Given the description of an element on the screen output the (x, y) to click on. 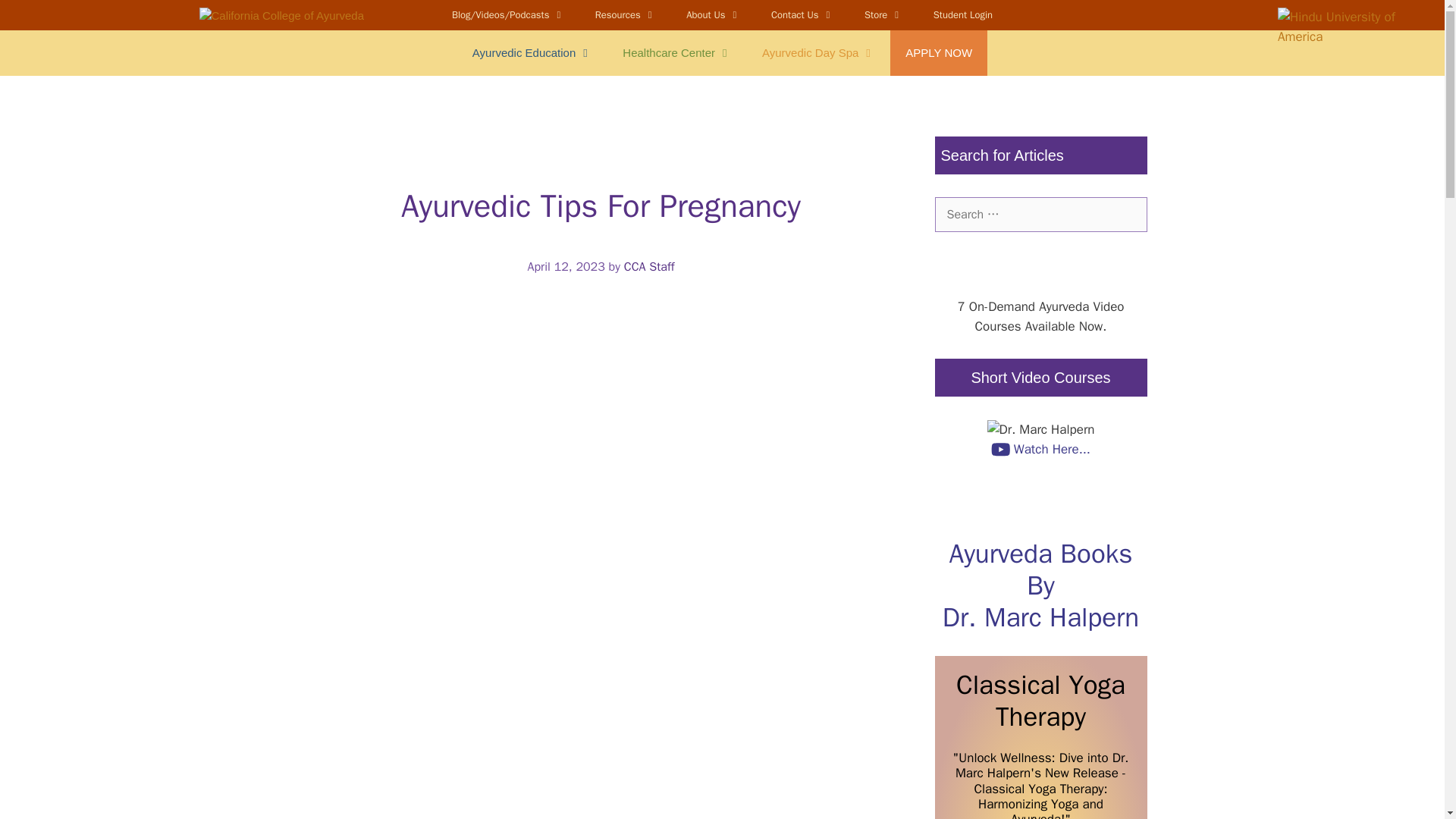
About Us (713, 15)
Student Login (962, 15)
Go to Student Portal on Populi (962, 15)
California College of Ayurveda (280, 16)
Ayurvedic Education (532, 53)
Visit Our Home Page (1338, 67)
Resources (625, 15)
Store (883, 15)
Contact Us (801, 15)
